Given the description of an element on the screen output the (x, y) to click on. 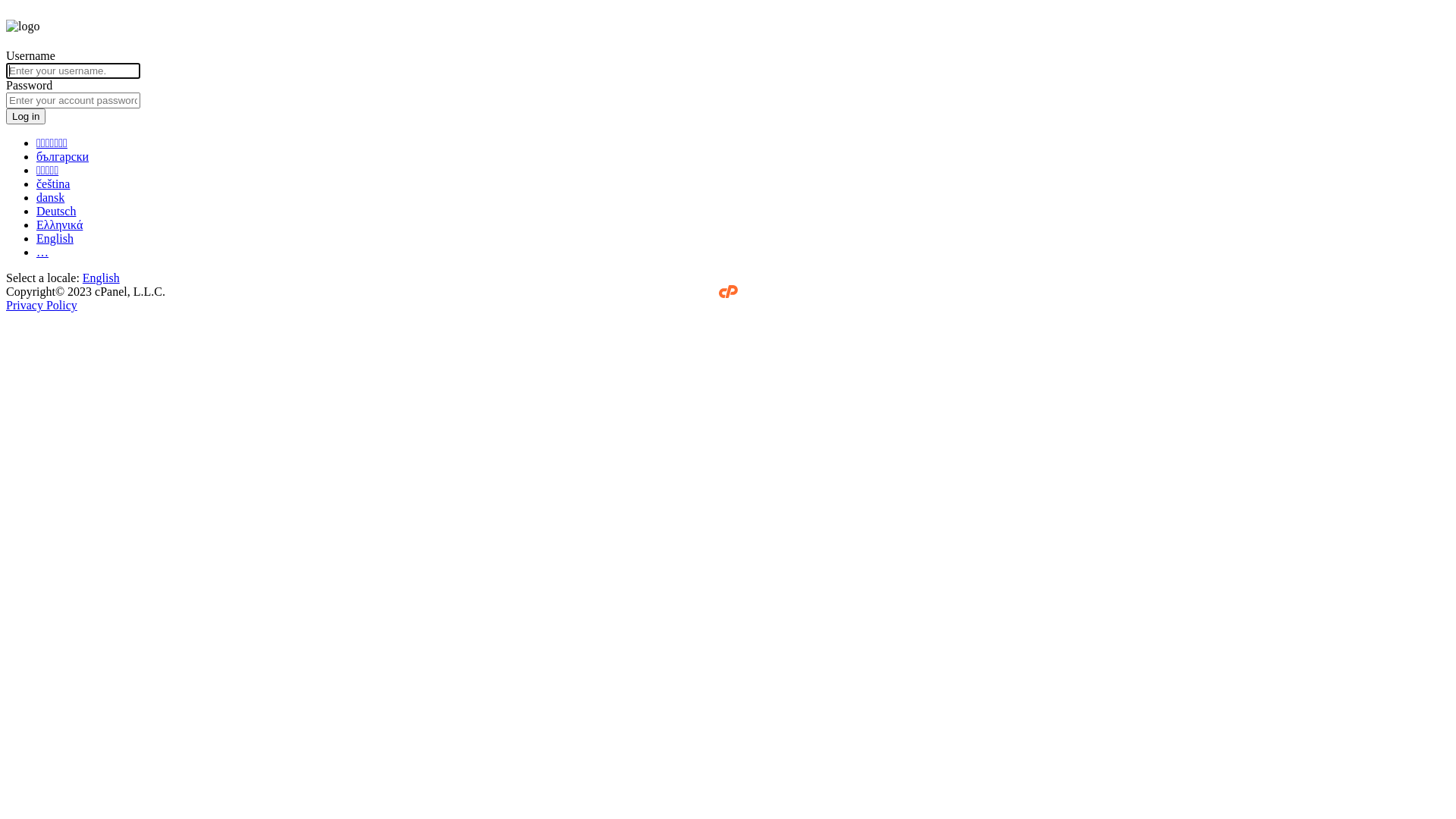
English Element type: text (100, 277)
Deutsch Element type: text (55, 210)
Privacy Policy Element type: text (41, 304)
Log in Element type: text (25, 116)
English Element type: text (54, 238)
dansk Element type: text (50, 197)
